Given the description of an element on the screen output the (x, y) to click on. 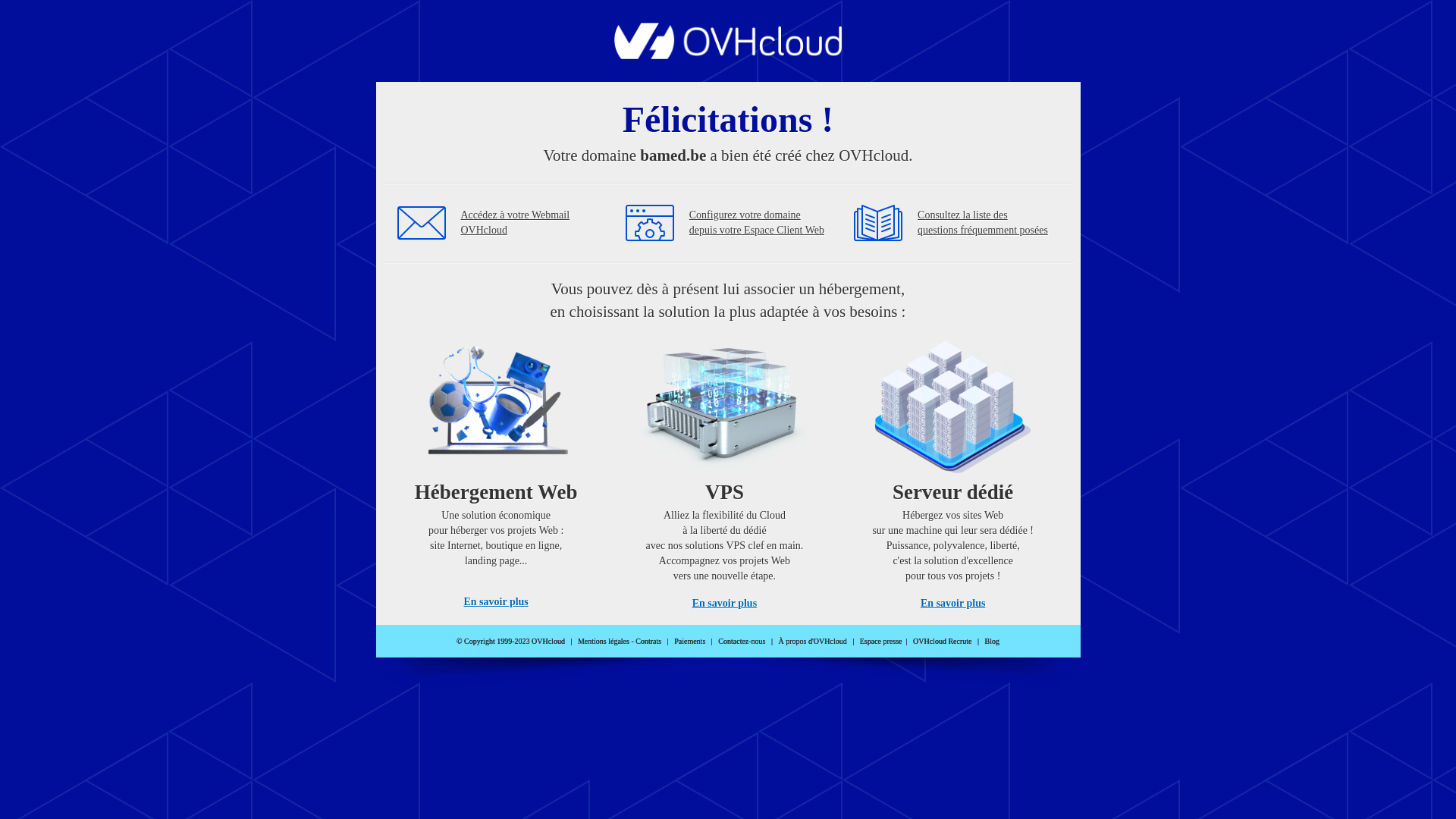
Espace presse Element type: text (880, 641)
OVHcloud Recrute Element type: text (942, 641)
OVHcloud Element type: hover (727, 54)
En savoir plus Element type: text (952, 602)
Contactez-nous Element type: text (741, 641)
Configurez votre domaine
depuis votre Espace Client Web Element type: text (756, 222)
Paiements Element type: text (689, 641)
Blog Element type: text (992, 641)
En savoir plus Element type: text (495, 601)
En savoir plus Element type: text (724, 602)
VPS Element type: hover (724, 469)
